Given the description of an element on the screen output the (x, y) to click on. 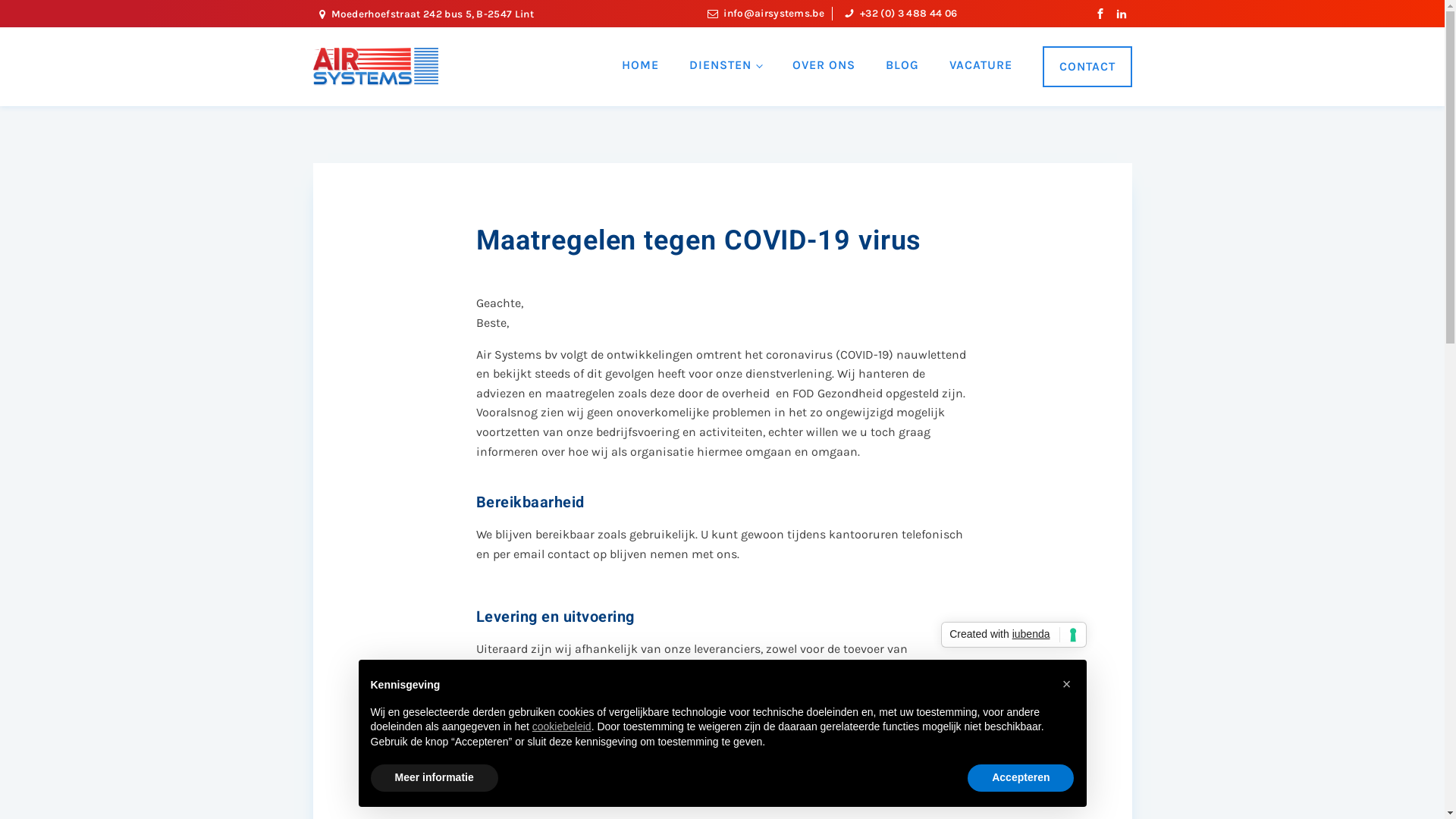
+32 (0) 3 488 44 06 Element type: text (908, 13)
OVER ONS Element type: text (822, 65)
BLOG Element type: text (902, 65)
HOME Element type: text (640, 65)
VACATURE Element type: text (980, 65)
Accepteren Element type: text (1020, 777)
info@airsystems.be Element type: text (773, 13)
Moederhoefstraat 242 bus 5, B-2547 Lint Element type: text (431, 14)
CONTACT Element type: text (1086, 66)
DIENSTEN Element type: text (725, 65)
Created with iubenda Element type: text (1013, 634)
cookiebeleid Element type: text (561, 726)
Meer informatie Element type: text (433, 777)
